Given the description of an element on the screen output the (x, y) to click on. 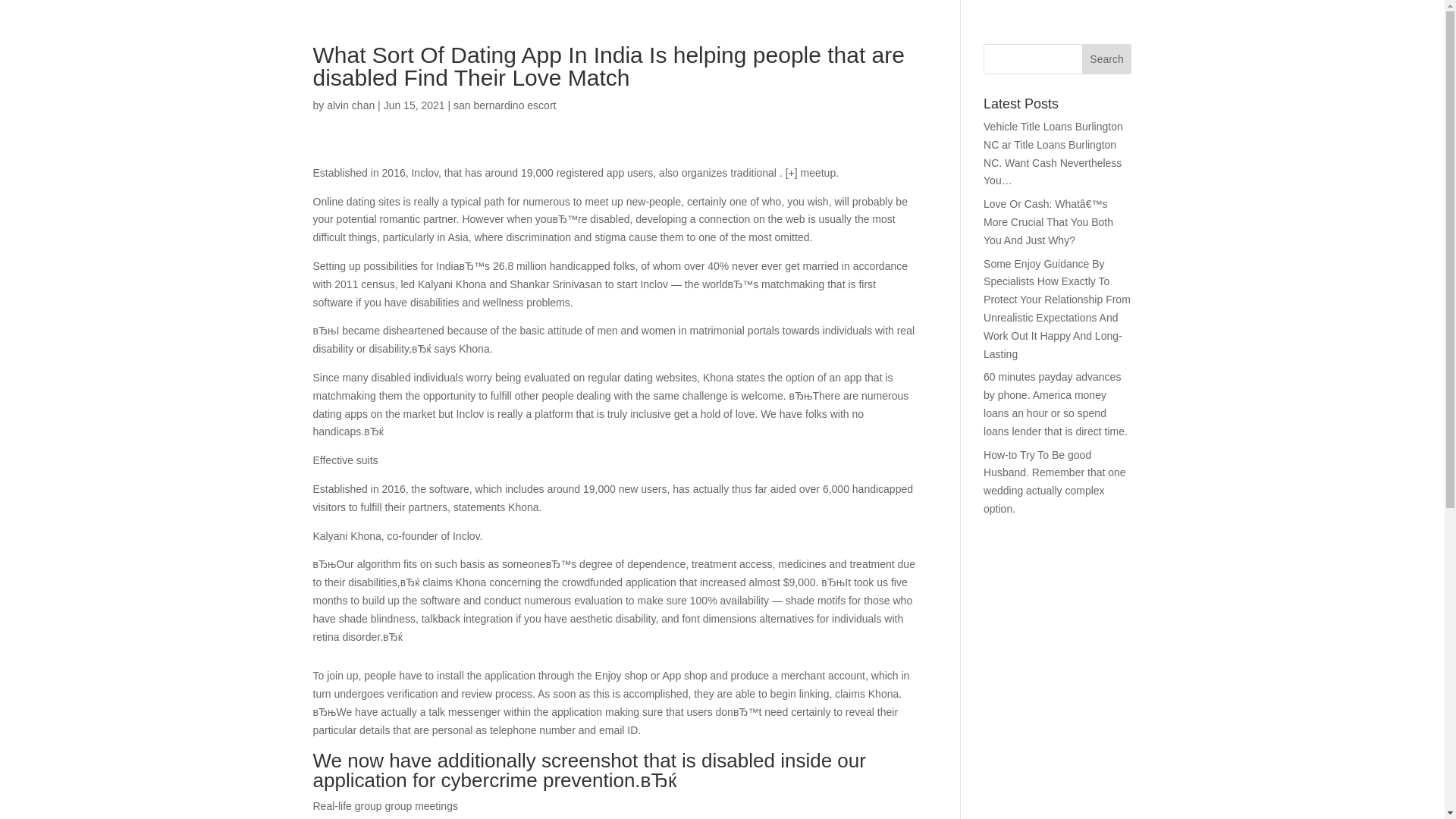
OUR FOOD (1191, 42)
CONTACT (1384, 42)
DELIVERY (1289, 42)
alvin chan (350, 105)
Search (1106, 59)
san bernardino escort (504, 105)
Search (1106, 59)
Posts by alvin chan (350, 105)
ABOUT US (1091, 42)
